Given the description of an element on the screen output the (x, y) to click on. 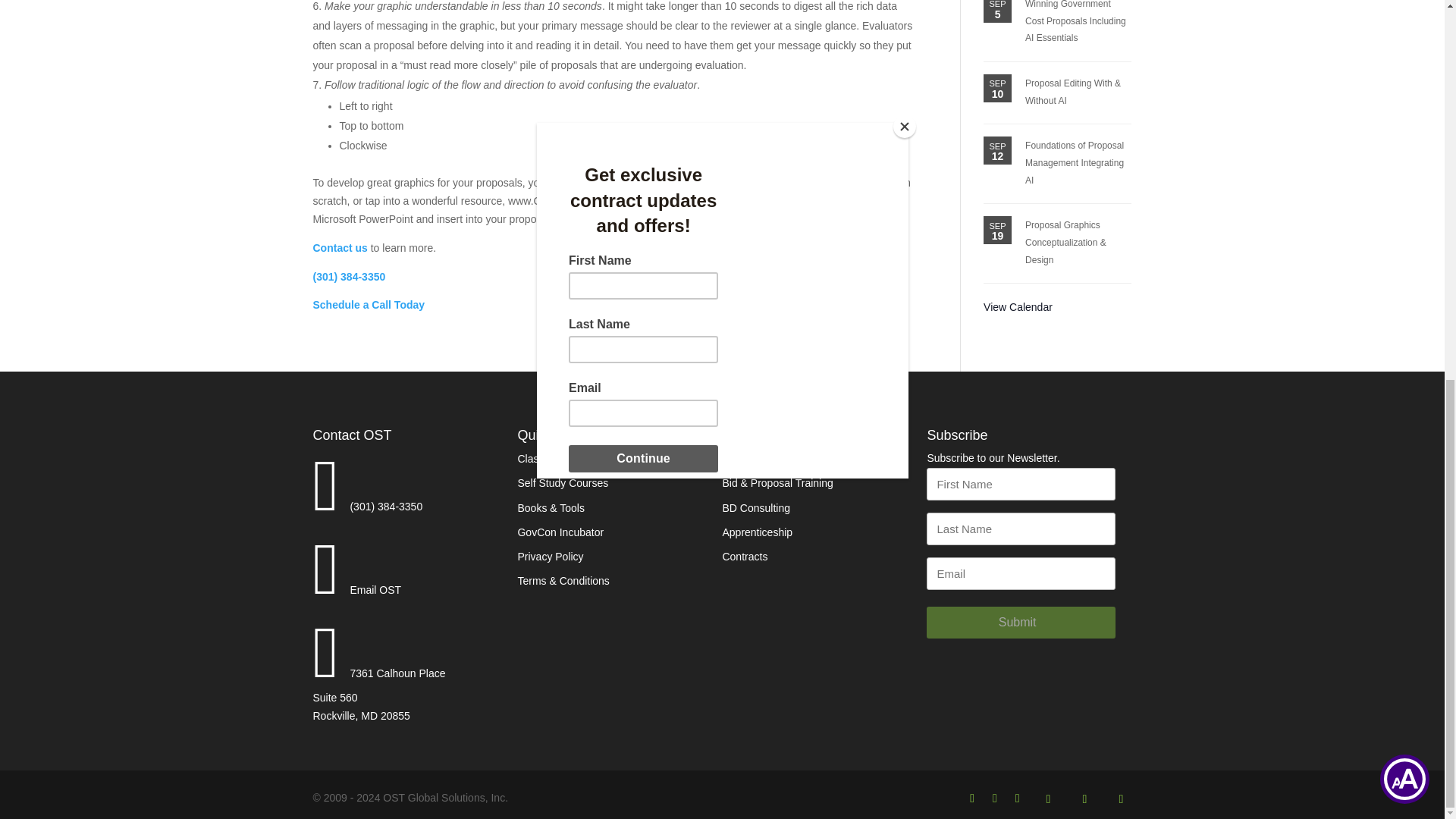
Foundations of Proposal Management Integrating AI (1074, 162)
Winning Government Cost Proposals Including AI Essentials (1075, 21)
View more classes. (1018, 306)
Submit (1020, 622)
